Given the description of an element on the screen output the (x, y) to click on. 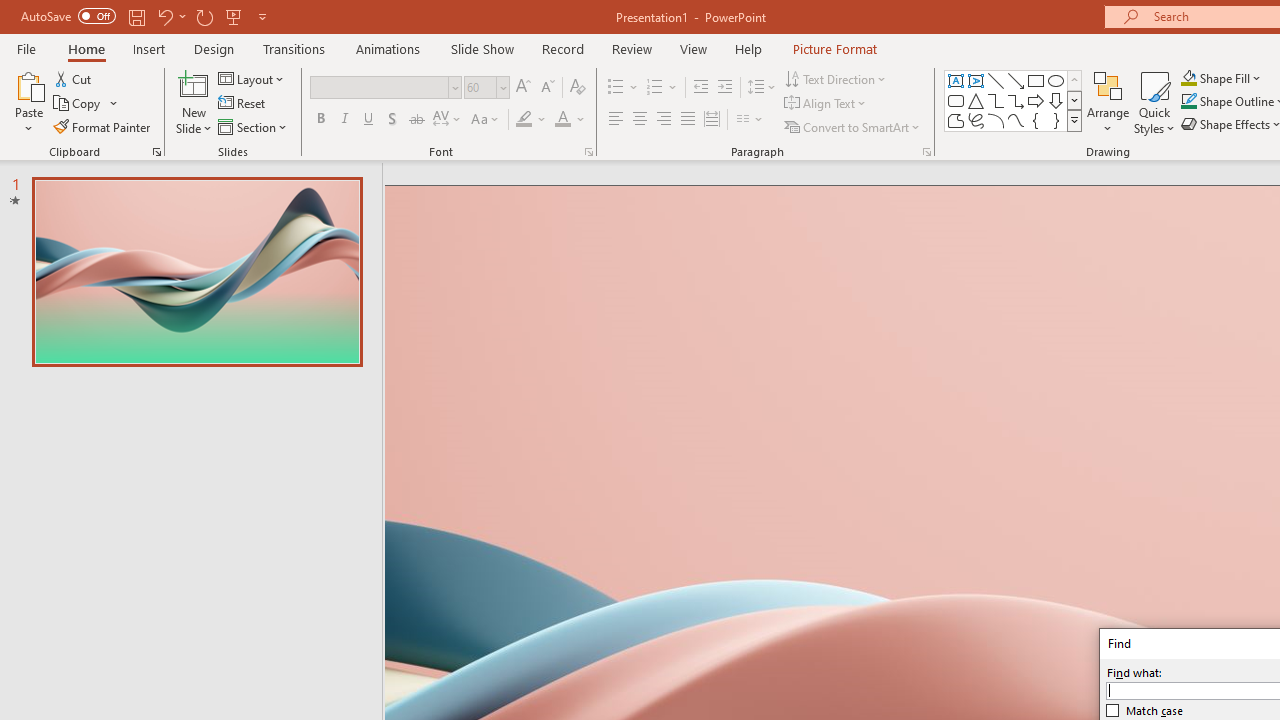
Match case (1145, 710)
Shape Fill Orange, Accent 2 (1188, 78)
Shape Outline Blue, Accent 1 (1188, 101)
Picture Format (834, 48)
